Given the description of an element on the screen output the (x, y) to click on. 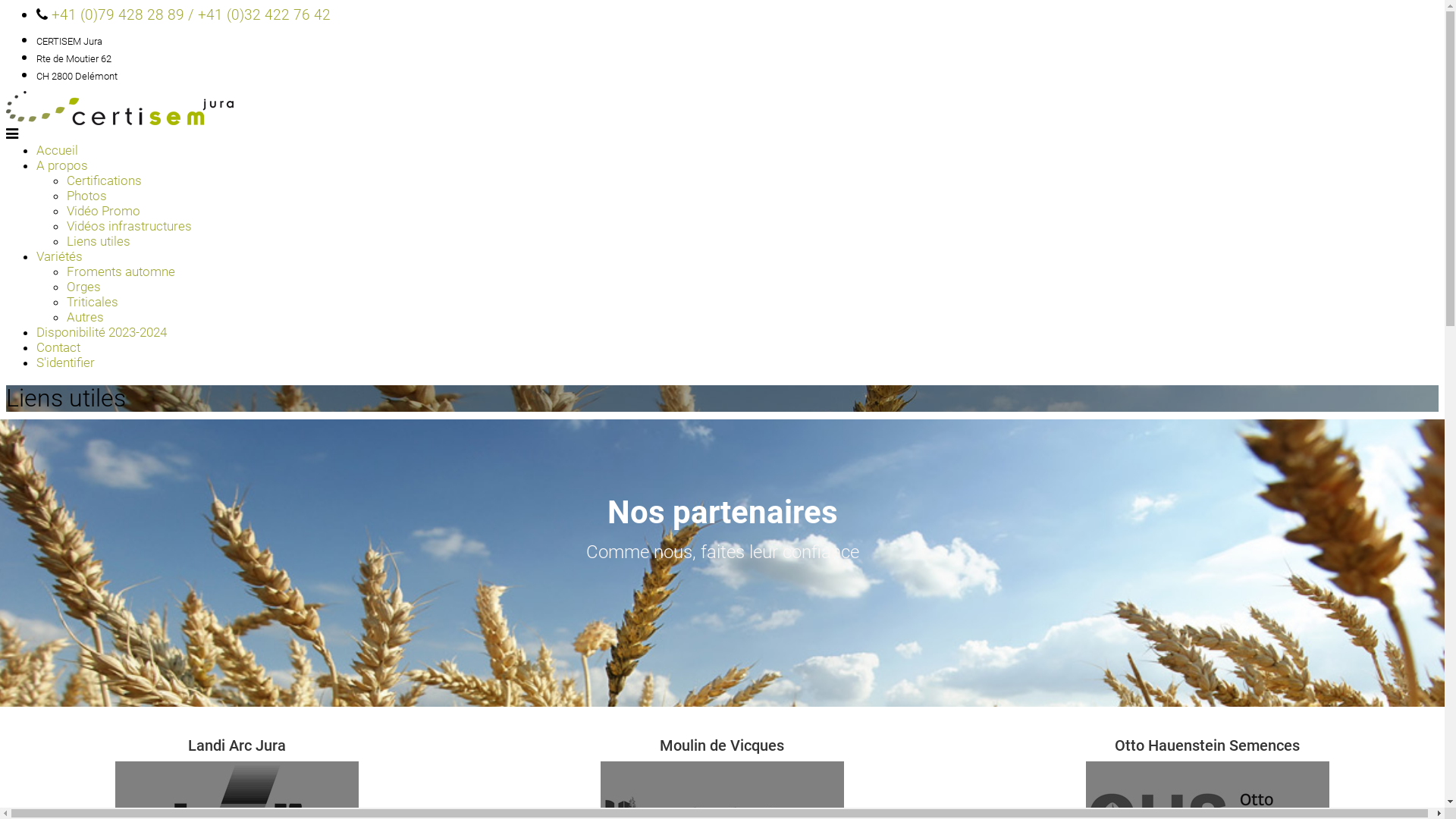
Contact Element type: text (58, 346)
Liens utiles Element type: text (98, 240)
Accueil Element type: text (57, 149)
Autres Element type: text (84, 316)
Certifications Element type: text (103, 180)
Triticales Element type: text (92, 301)
Froments automne Element type: text (120, 271)
A propos Element type: text (61, 164)
Photos Element type: text (86, 195)
Orges Element type: text (83, 286)
S'identifier Element type: text (65, 362)
Menu Element type: hover (12, 133)
+41 (0)79 428 28 89 / +41 (0)32 422 76 42 Element type: text (190, 14)
